Given the description of an element on the screen output the (x, y) to click on. 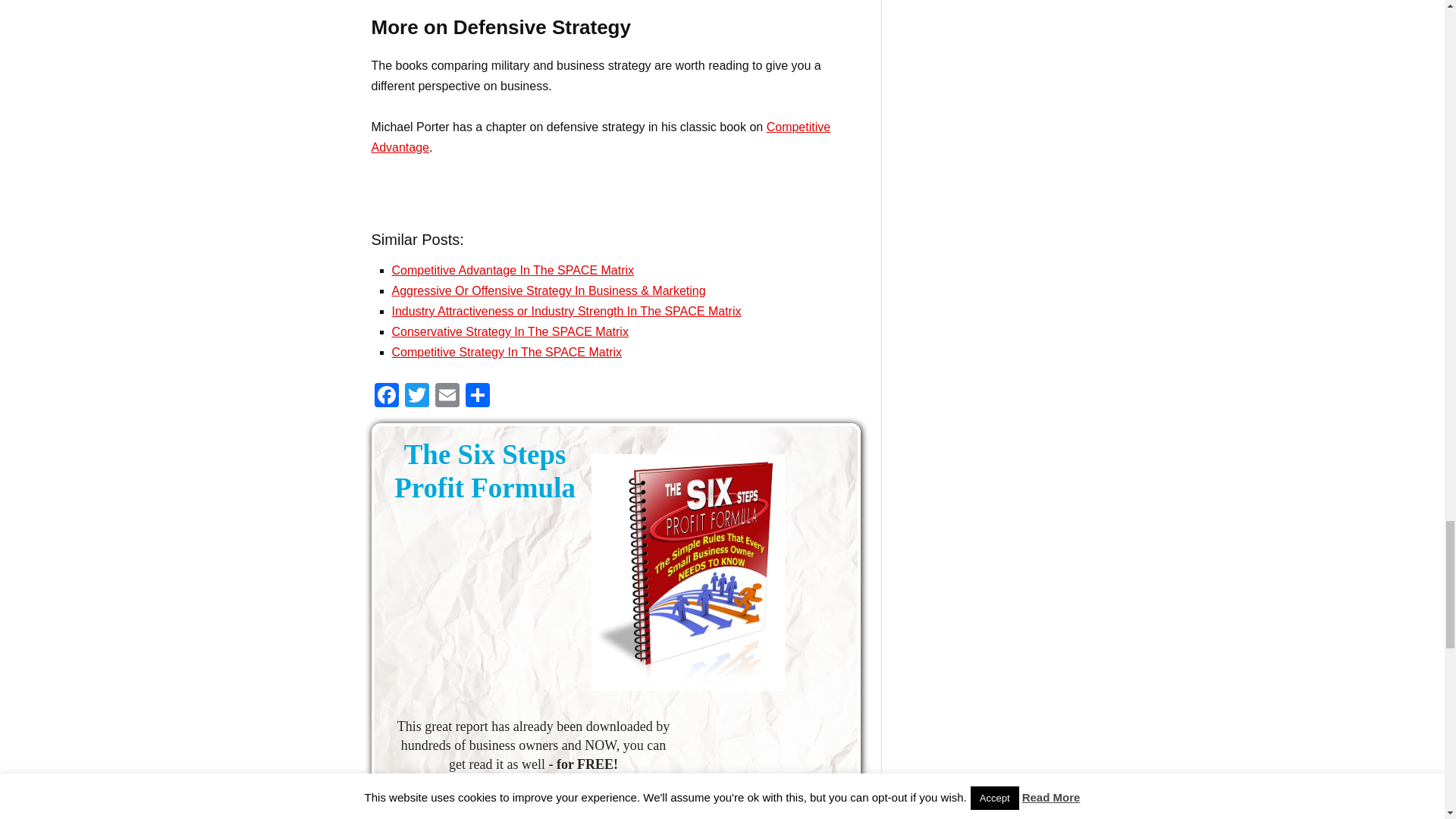
Competitive Advantage (601, 136)
Competitive Advantage In The SPACE Matrix (512, 269)
Conservative Strategy In The SPACE Matrix (509, 331)
Conservative Strategy In The SPACE Matrix (509, 331)
Email (447, 397)
Competitive Strategy In The SPACE Matrix (506, 351)
Facebook (386, 397)
Email (447, 397)
